Given the description of an element on the screen output the (x, y) to click on. 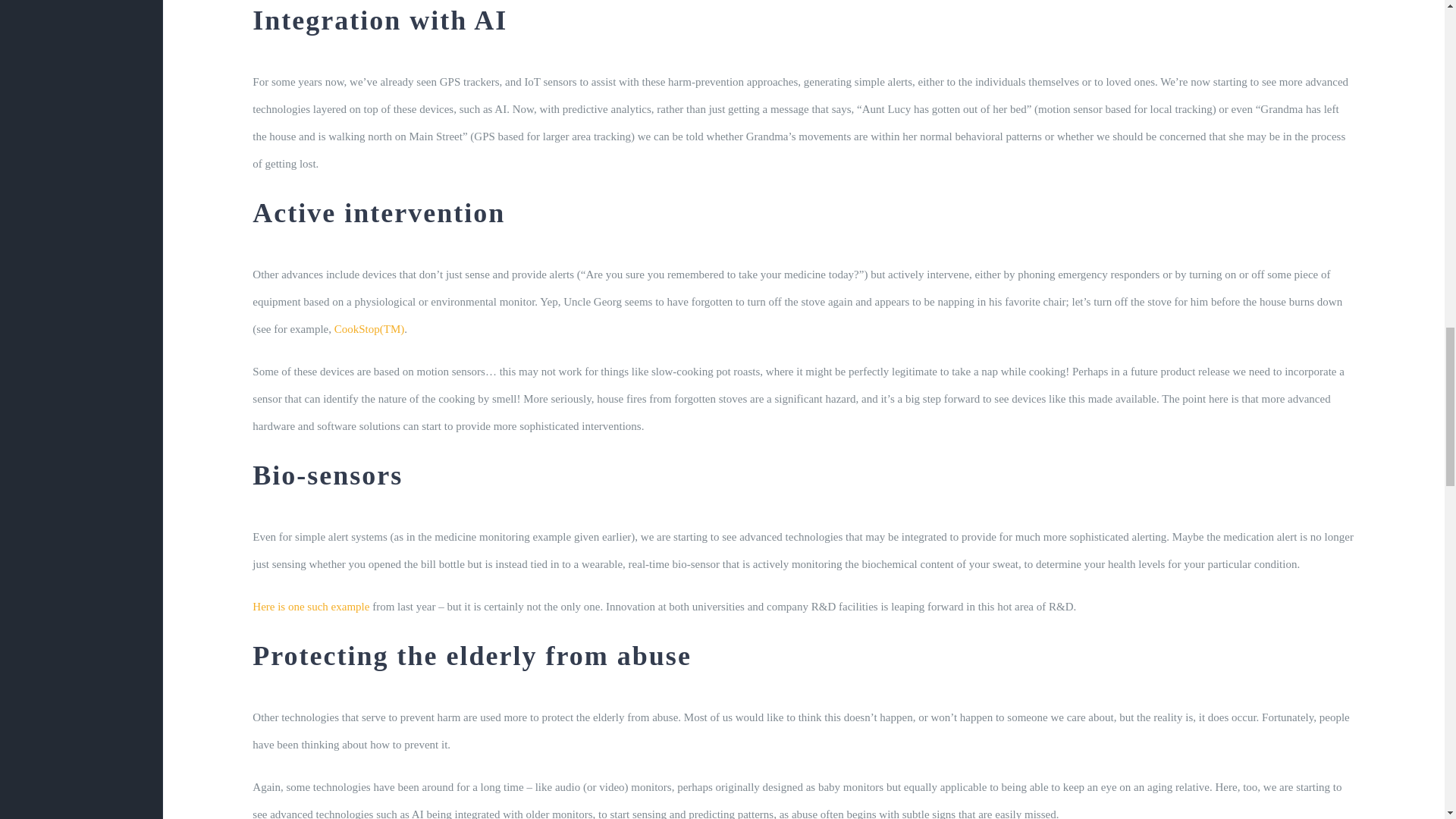
Here is one such example (310, 606)
